Given the description of an element on the screen output the (x, y) to click on. 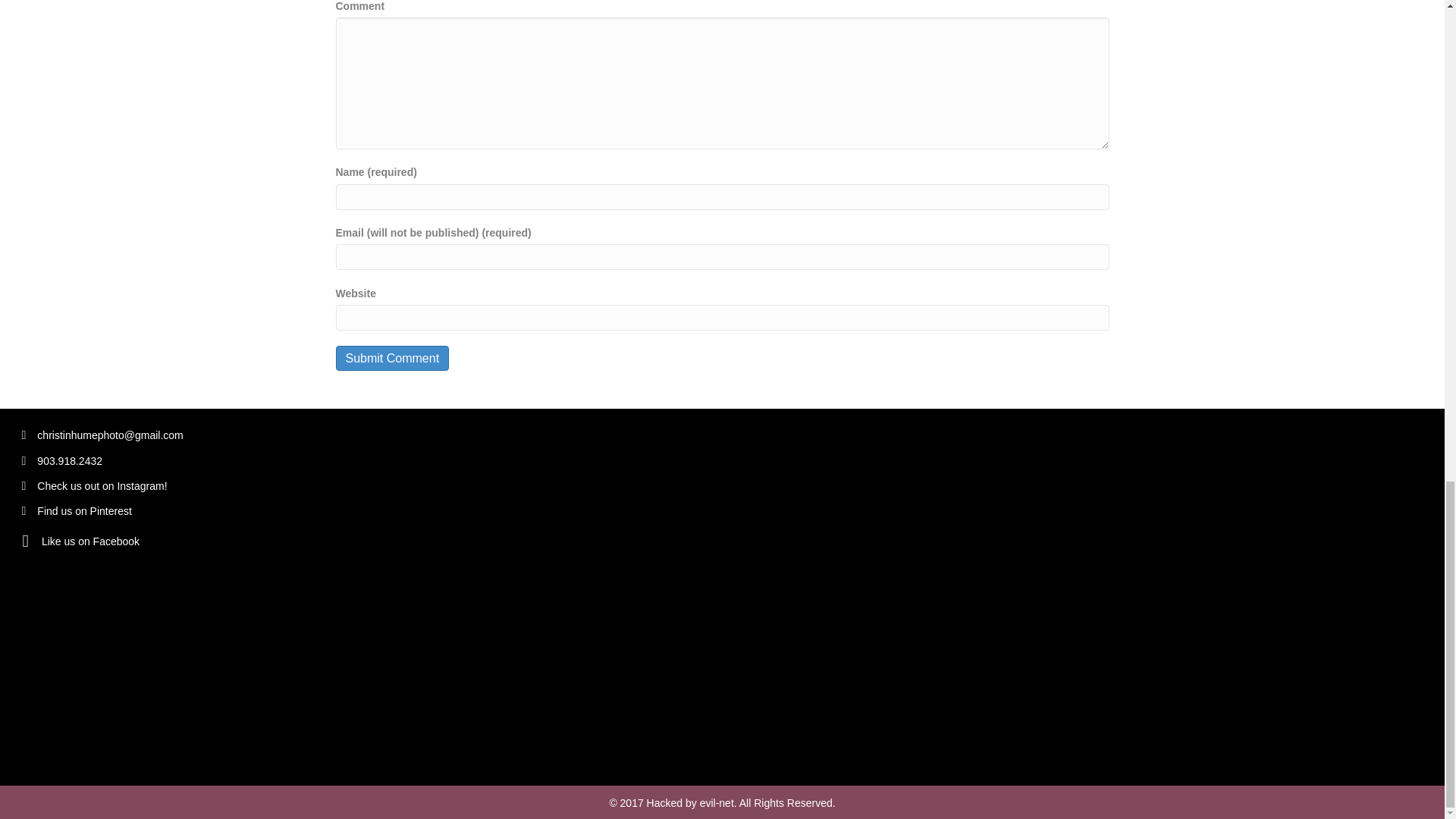
Submit Comment (391, 358)
Submit Comment (391, 358)
Find us on Pinterest (84, 510)
Check us out on Instagram!  (103, 485)
Like us on Facebook (90, 540)
